Given the description of an element on the screen output the (x, y) to click on. 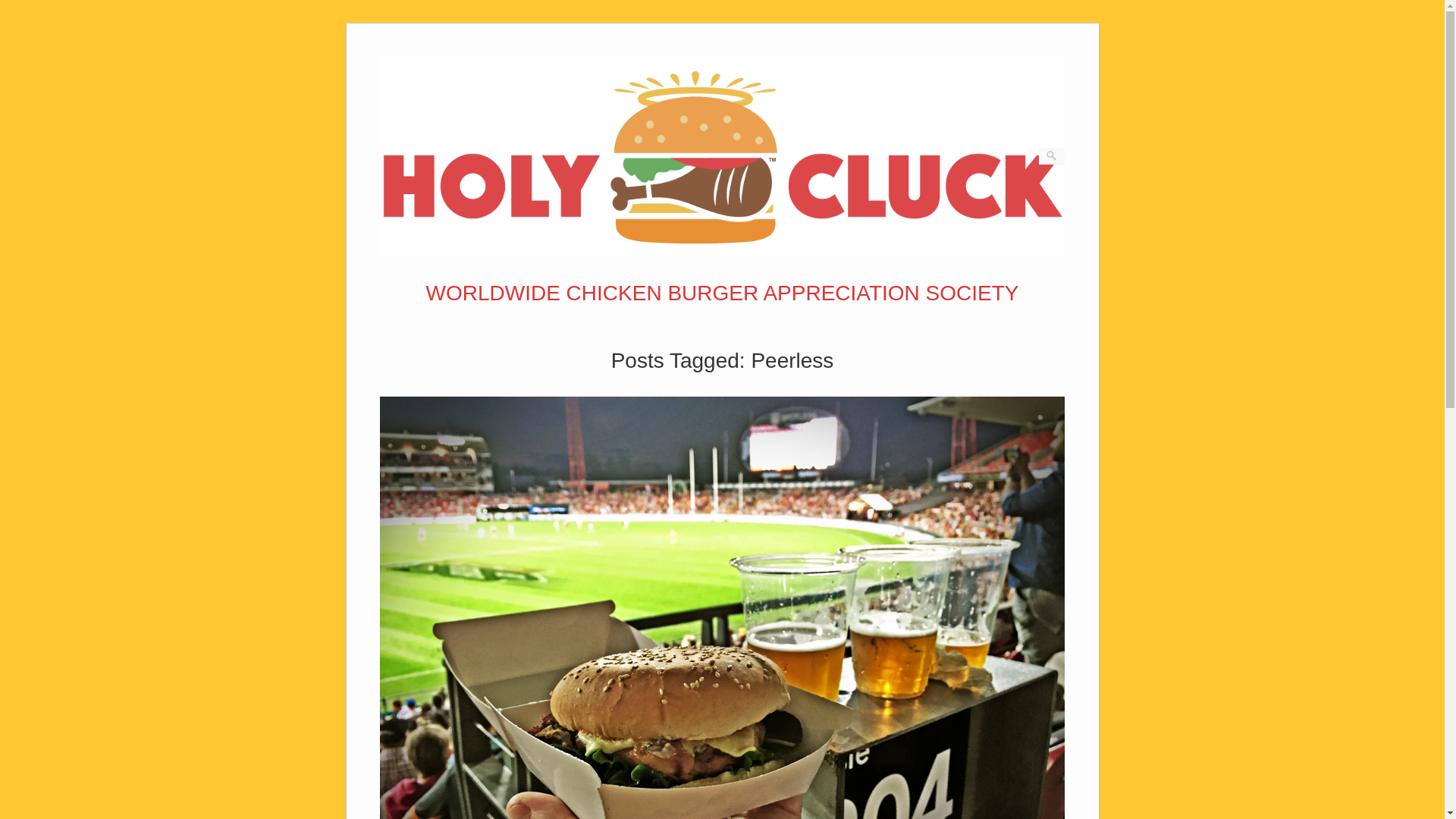
Worldwide Chicken Burger Appreciation Society (722, 253)
Search (21, 7)
